Given the description of an element on the screen output the (x, y) to click on. 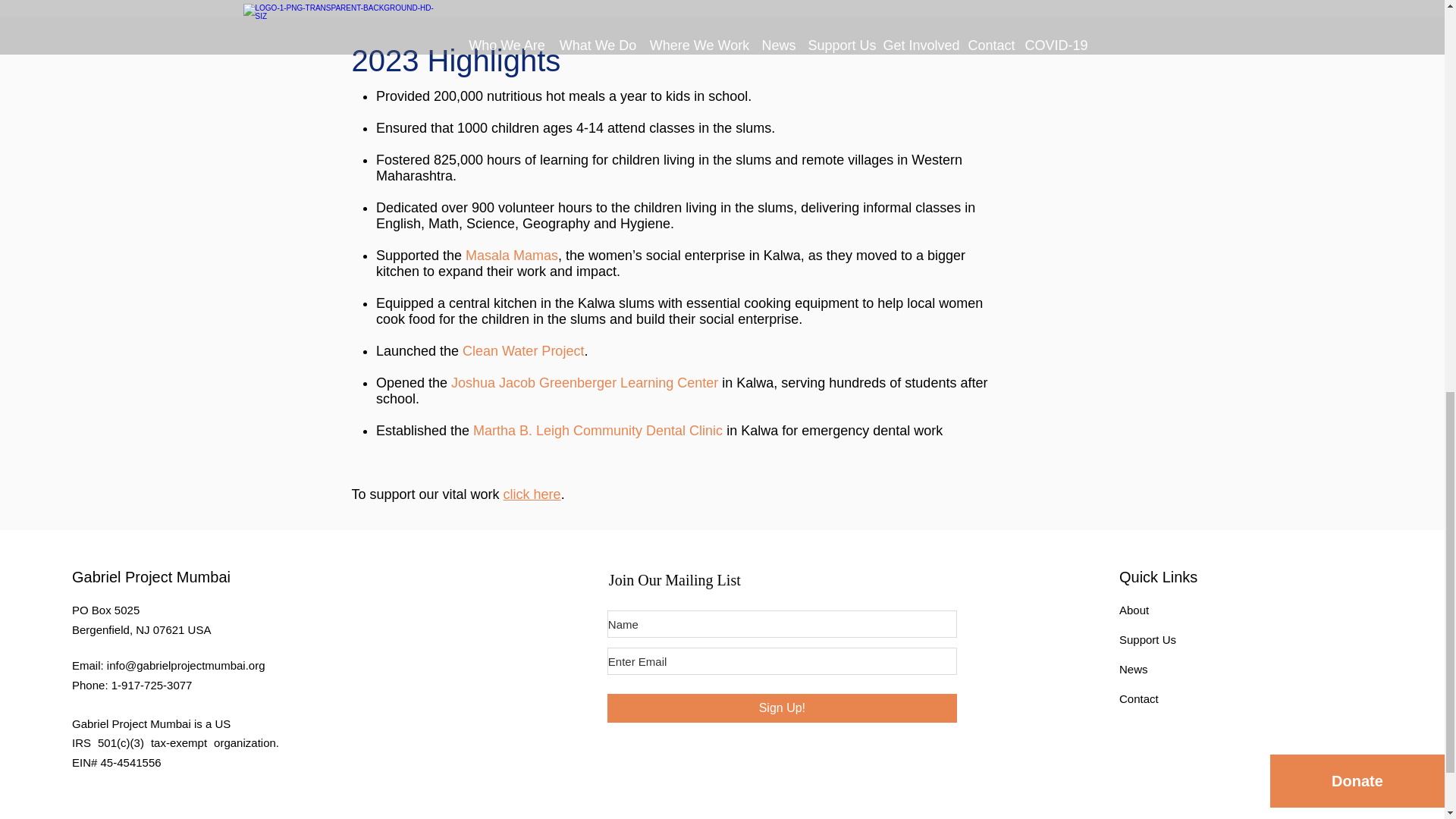
Clean Water Project (523, 350)
Joshua Jacob Greenberger Learning Center (584, 382)
Masala Mamas (511, 255)
Martha B. Leigh Community Dental Clinic (597, 430)
click here (531, 494)
